Given the description of an element on the screen output the (x, y) to click on. 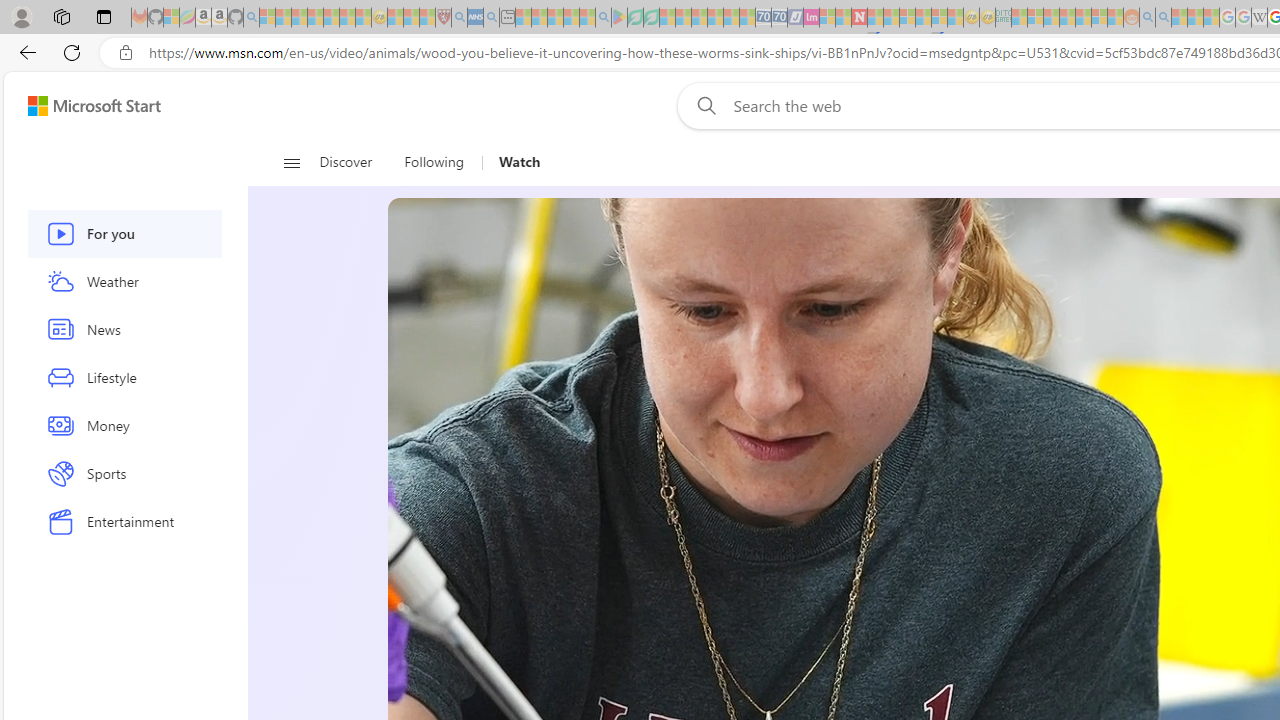
10 Like (422, 154)
